Given the description of an element on the screen output the (x, y) to click on. 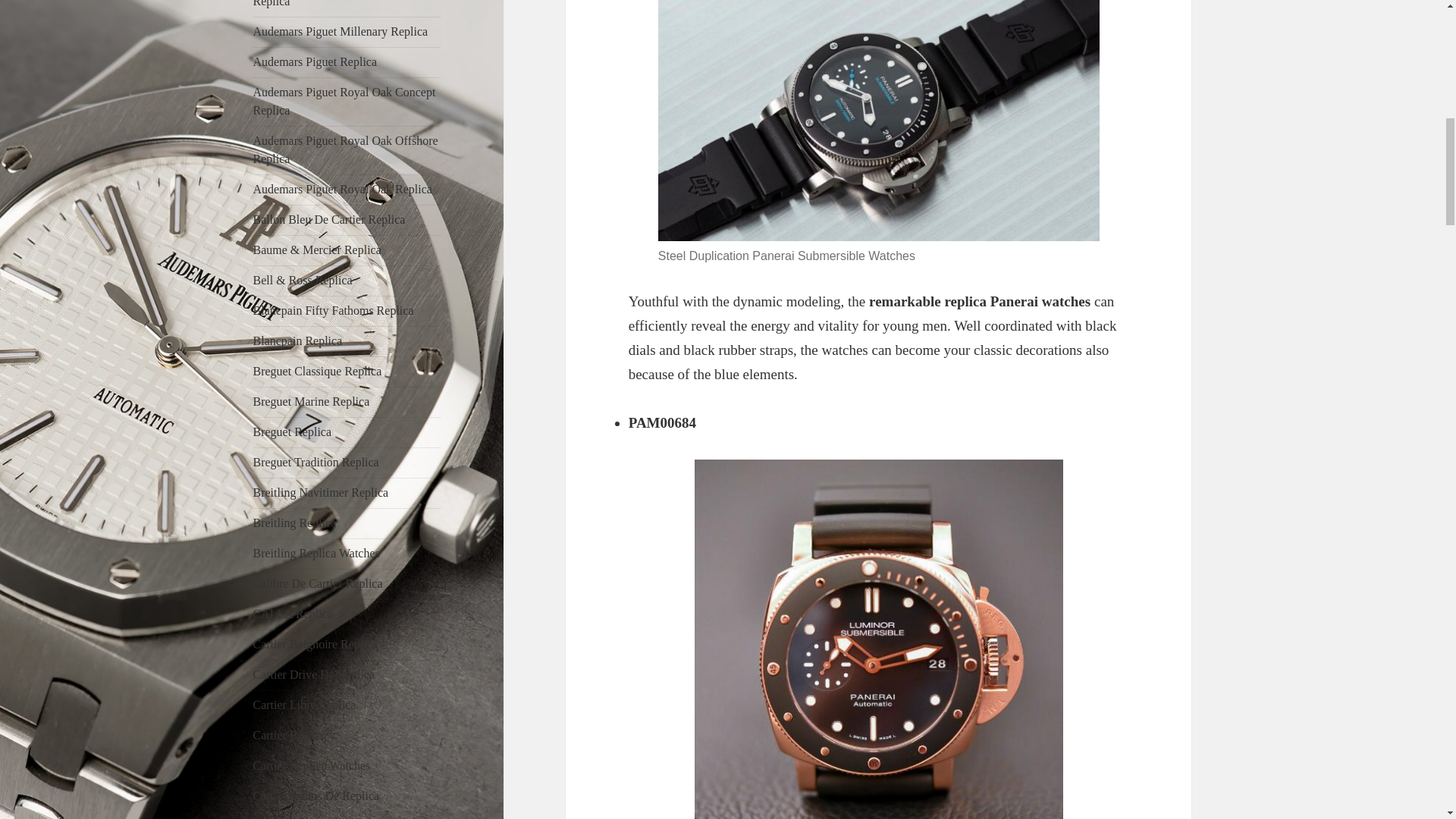
CALLA Replica (293, 613)
Audemars Piguet Jules Audemars Replica (334, 3)
Ballon Bleu De Cartier Replica (329, 219)
Breitling Replica (294, 522)
Cartier Libre Replica (304, 704)
Audemars Piguet Royal Oak Offshore Replica (345, 149)
Cartier Replica (289, 735)
Breitling Navitimer Replica (320, 492)
Cartier Santos De Replica (316, 795)
Breguet Tradition Replica (315, 461)
Audemars Piguet Millenary Replica (340, 31)
Breguet Marine Replica (311, 400)
Cartier Drive De Replica (313, 674)
Breitling Replica Watches (316, 553)
Audemars Piguet Royal Oak Concept Replica (344, 101)
